Given the description of an element on the screen output the (x, y) to click on. 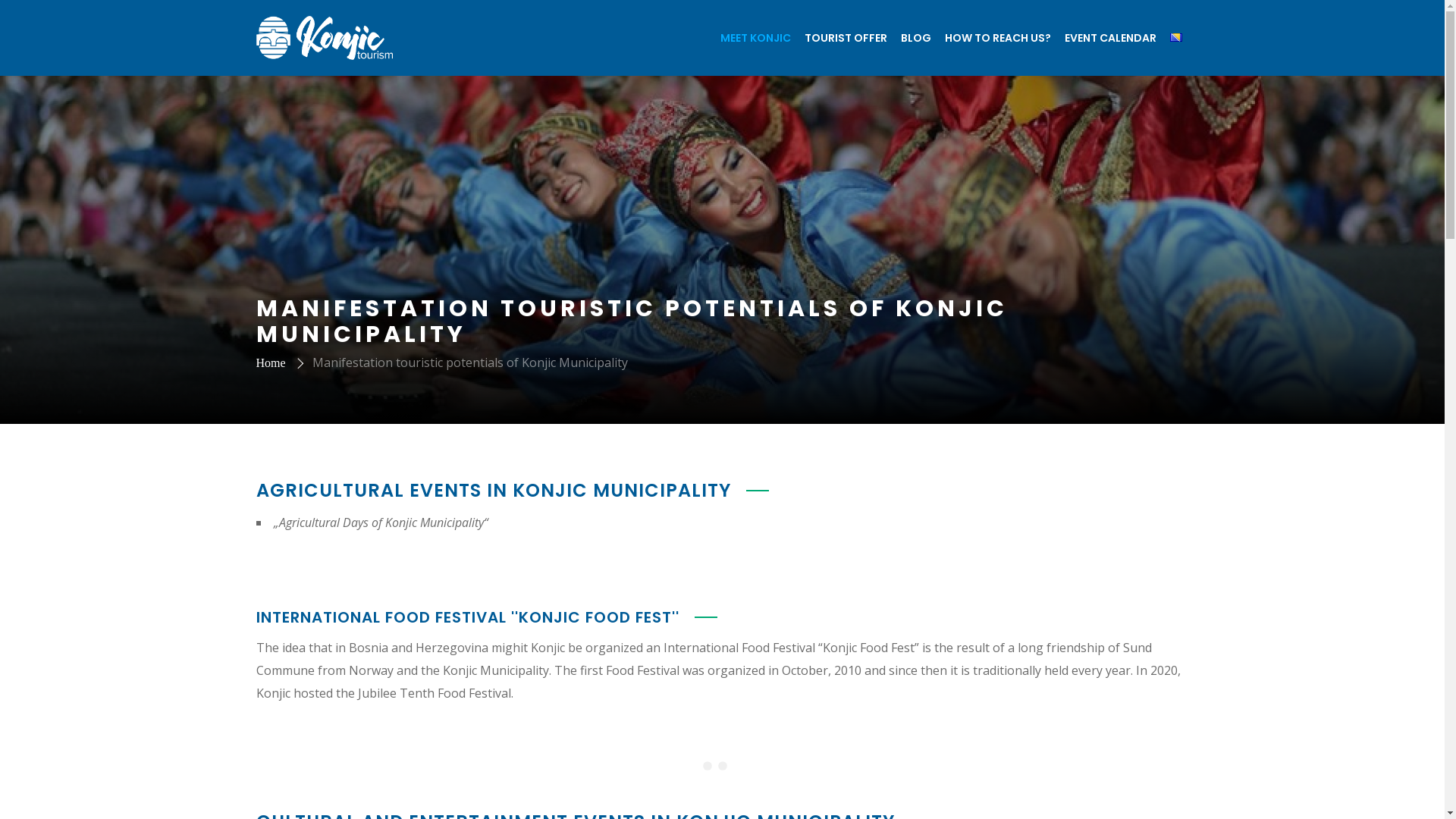
Konjic tourism Element type: hover (324, 37)
BLOG Element type: text (914, 37)
HOW TO REACH US? Element type: text (996, 37)
Home Element type: text (270, 362)
Bosanski Element type: hover (1175, 37)
TOURIST OFFER Element type: text (845, 37)
MEET KONJIC Element type: text (754, 37)
EVENT CALENDAR Element type: text (1109, 37)
